Given the description of an element on the screen output the (x, y) to click on. 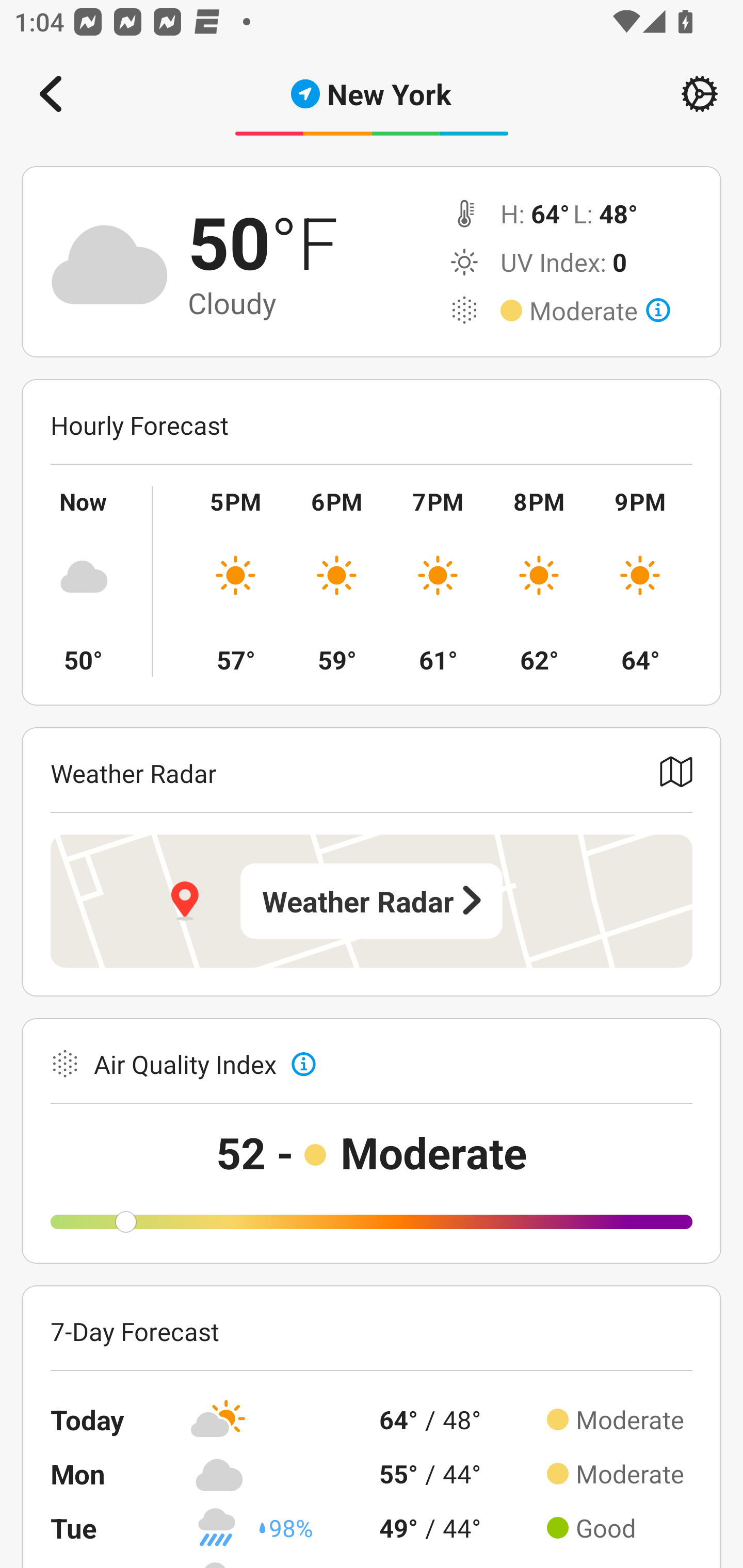
Navigate up (50, 93)
Setting (699, 93)
Moderate (599, 310)
Weather Radar (371, 900)
